Given the description of an element on the screen output the (x, y) to click on. 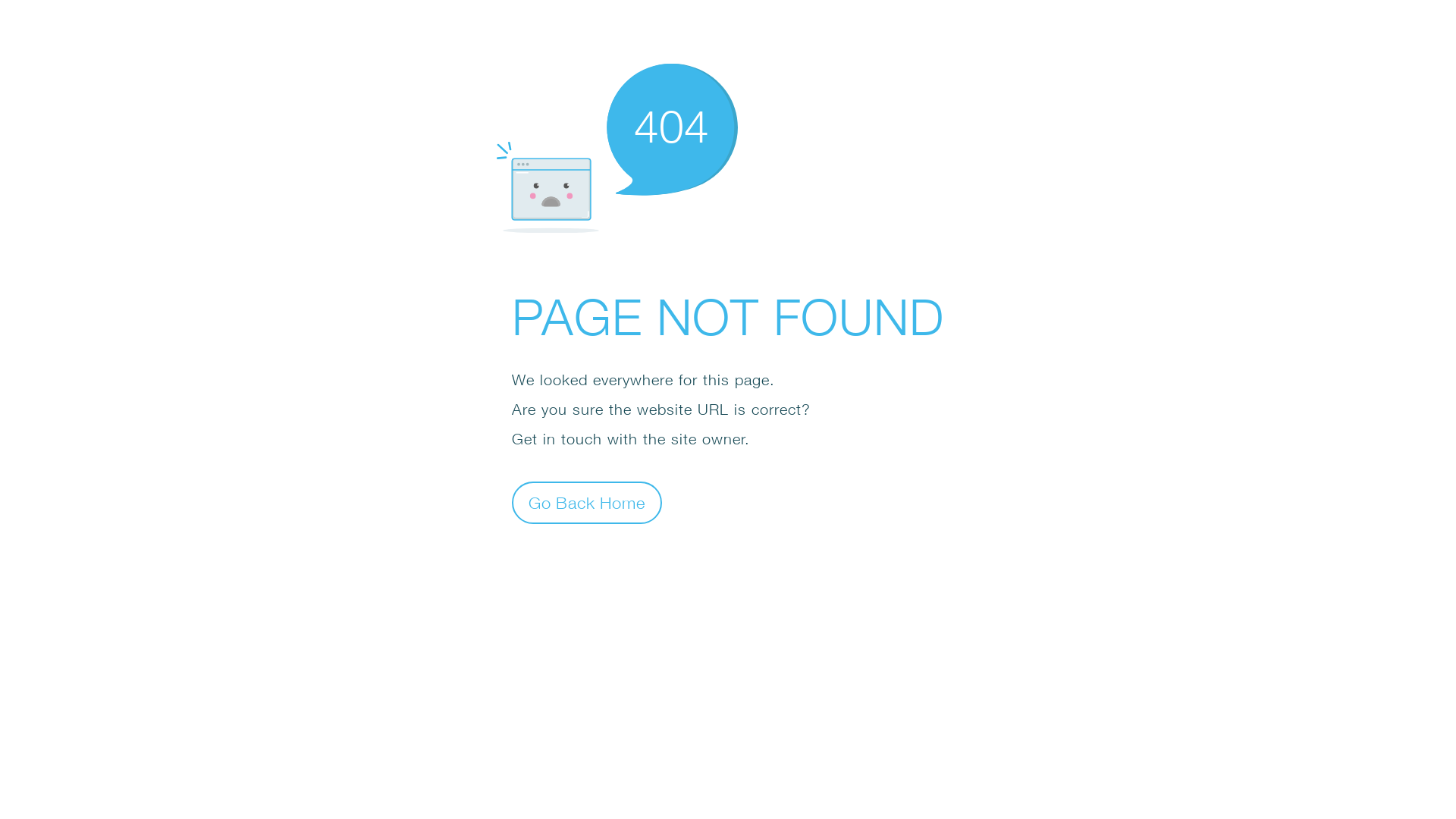
Go Back Home Element type: text (586, 502)
